Given the description of an element on the screen output the (x, y) to click on. 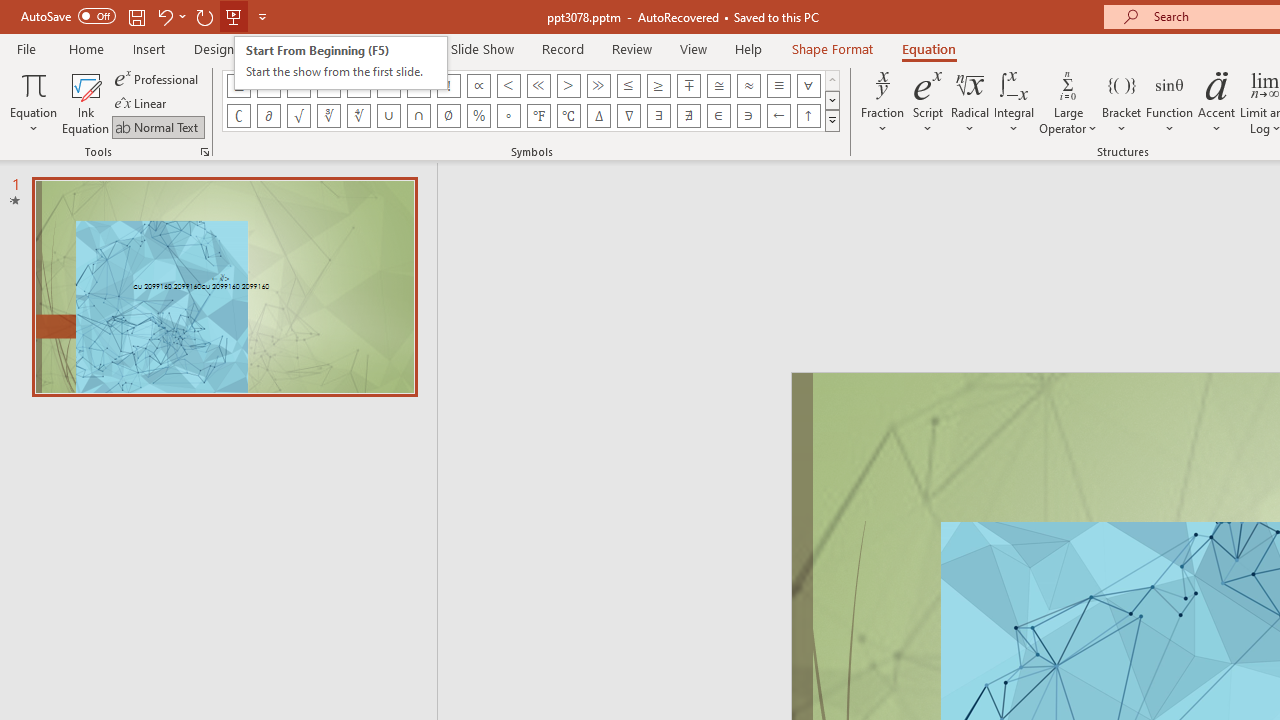
Equation Symbol Approximately (358, 85)
Equation Symbol Empty Set (448, 115)
Professional (158, 78)
Radical (970, 102)
Equation Options... (204, 151)
Equation Symbol Greater Than or Equal To (658, 85)
Function (1169, 102)
Equation Symbol Greater Than (568, 85)
Equation Symbol Identical To (778, 85)
Equation Symbol Almost Equal To (Asymptotic To) (748, 85)
Linear (142, 103)
Equation Symbol Plus Minus (238, 85)
Equation Symbol Approximately Equal To (718, 85)
